Given the description of an element on the screen output the (x, y) to click on. 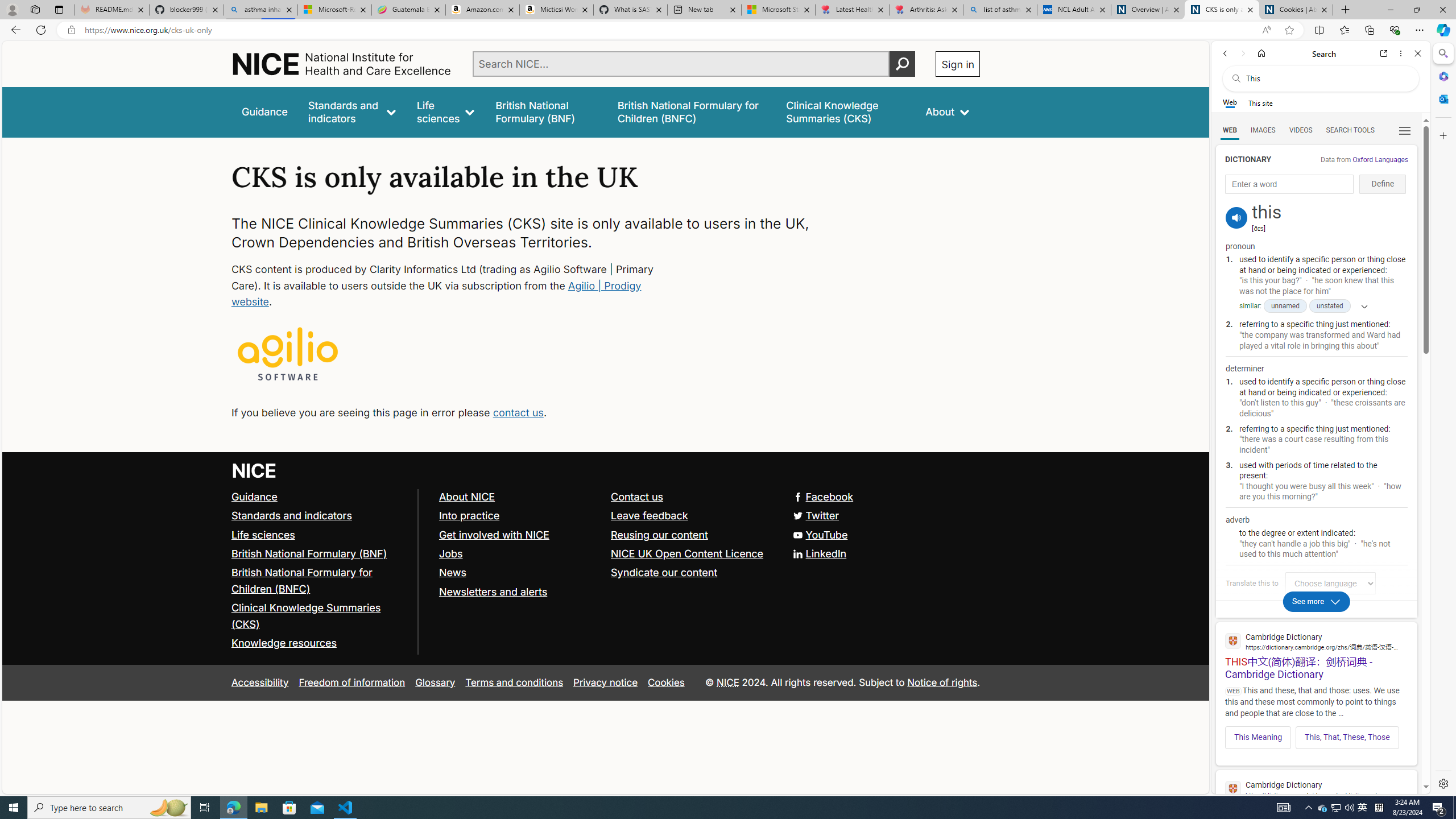
Facebook (823, 496)
Freedom of information (352, 682)
Contact us (692, 496)
unnamed (1285, 305)
Perform search (902, 63)
